Given the description of an element on the screen output the (x, y) to click on. 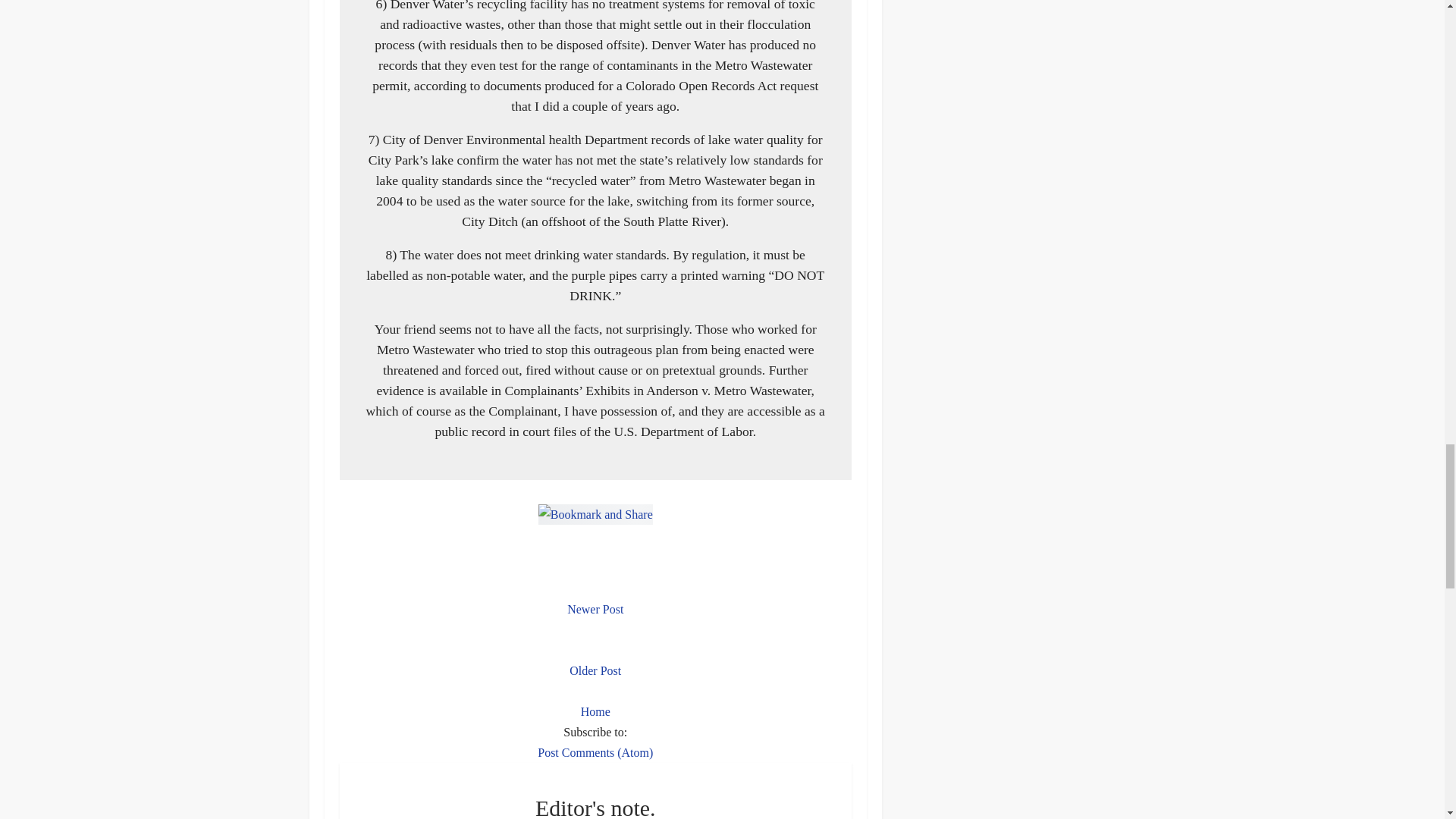
Newer Post (595, 608)
Newer Post (595, 608)
Home (595, 711)
Older Post (595, 670)
Older Post (595, 670)
